Given the description of an element on the screen output the (x, y) to click on. 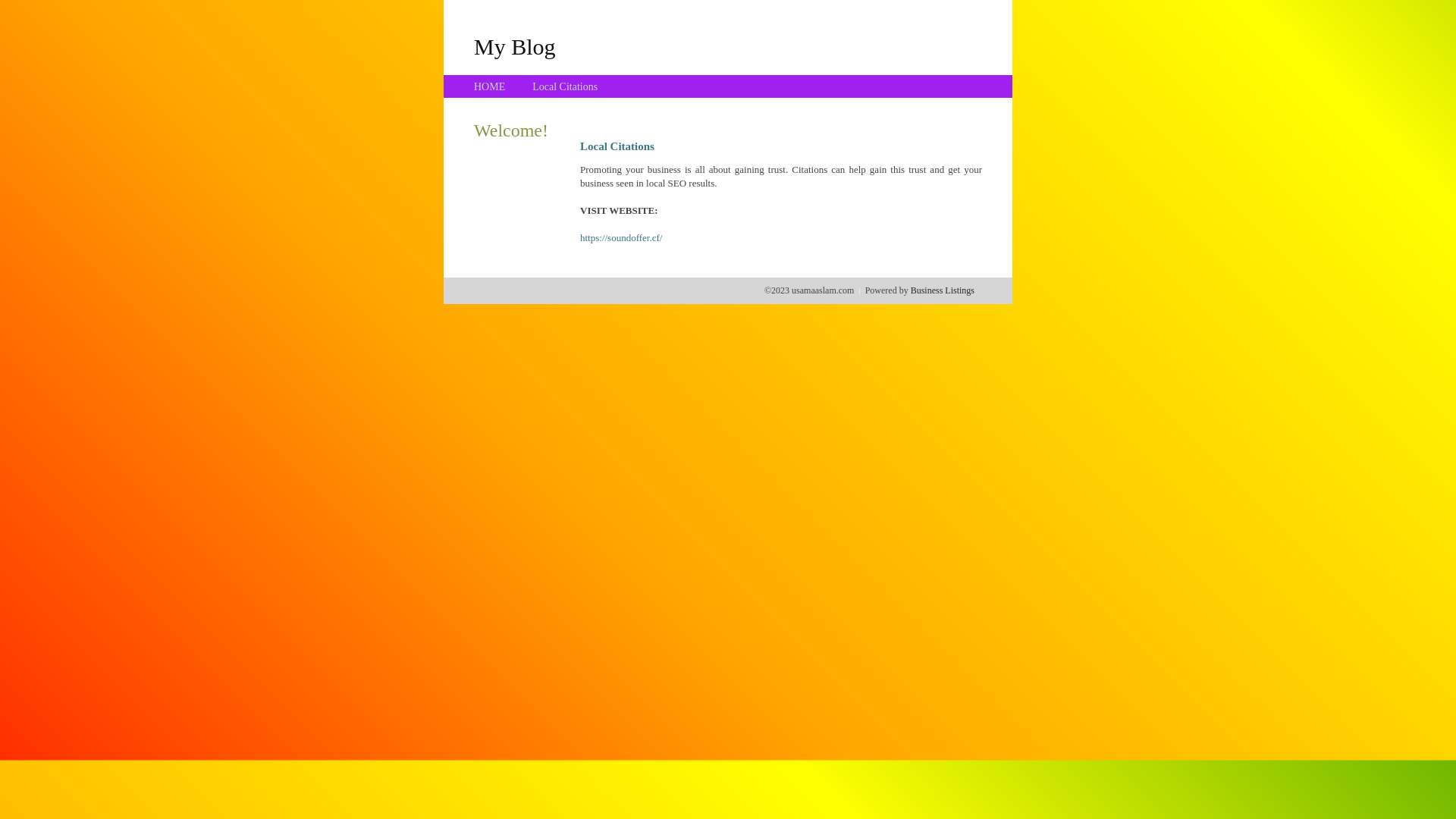
My Blog Element type: text (514, 46)
https://soundoffer.cf/ Element type: text (621, 237)
Local Citations Element type: text (564, 86)
Business Listings Element type: text (942, 290)
HOME Element type: text (489, 86)
